Given the description of an element on the screen output the (x, y) to click on. 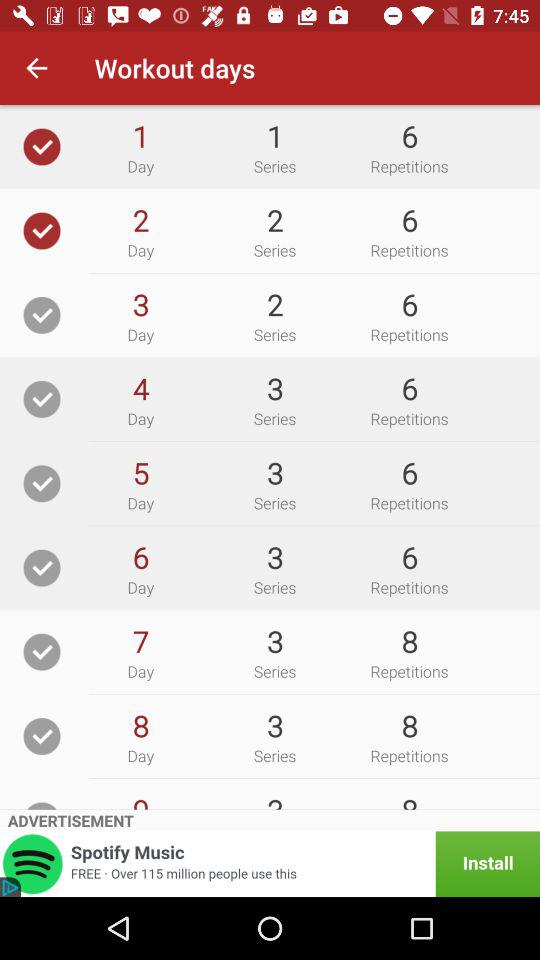
scroll to the 5 icon (140, 472)
